Given the description of an element on the screen output the (x, y) to click on. 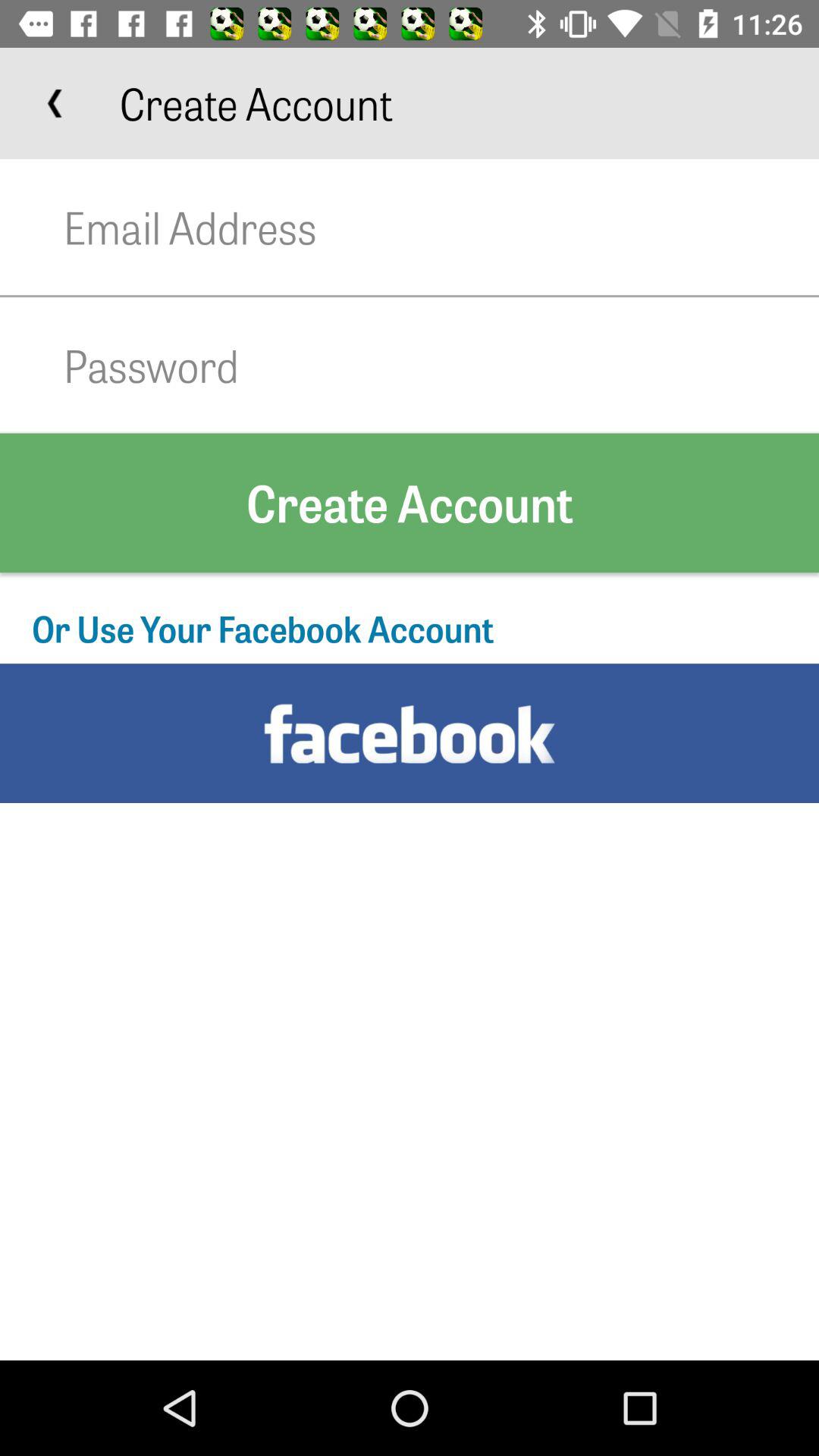
password textbox (441, 365)
